Given the description of an element on the screen output the (x, y) to click on. 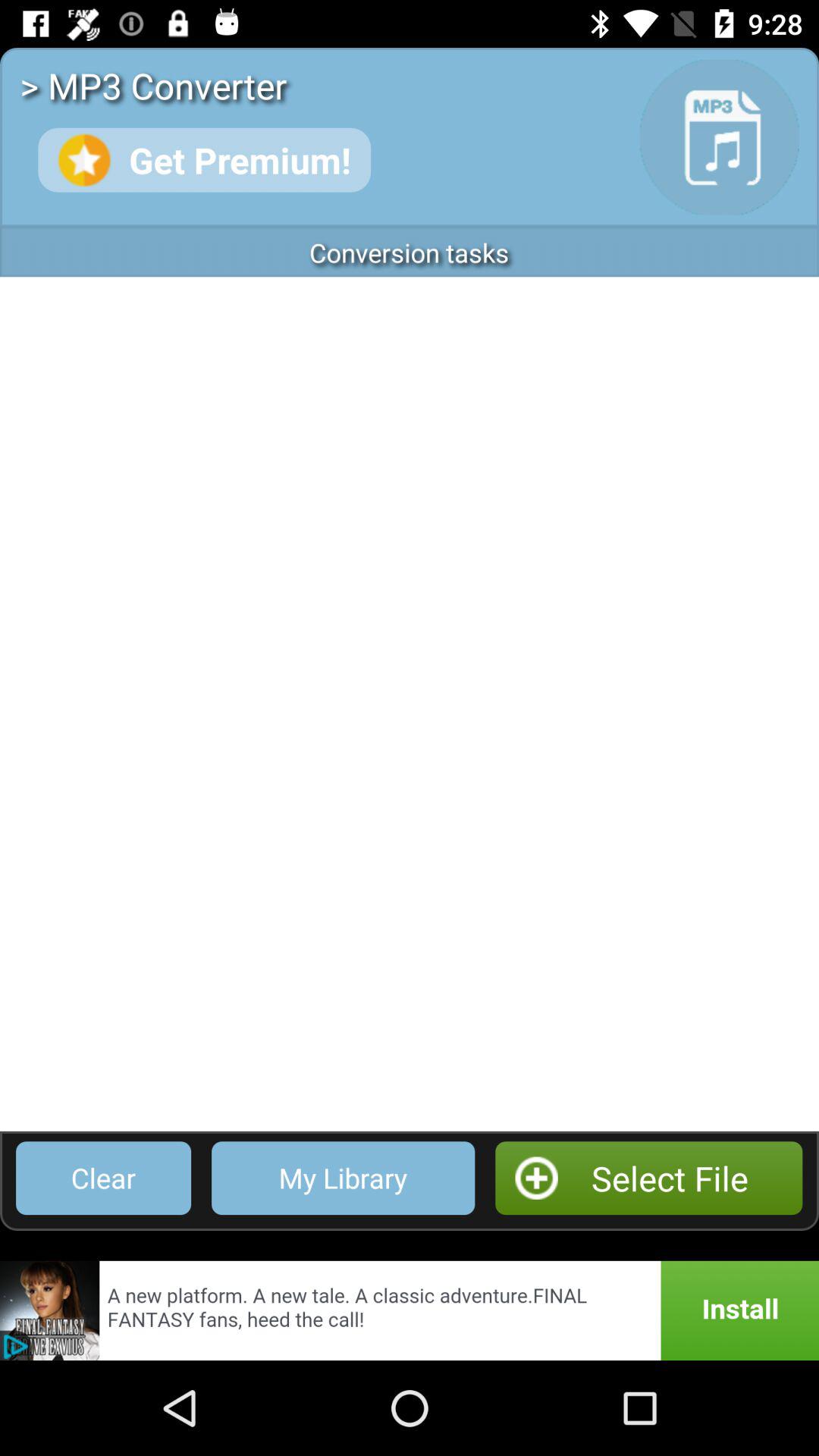
open my library (342, 1177)
